Given the description of an element on the screen output the (x, y) to click on. 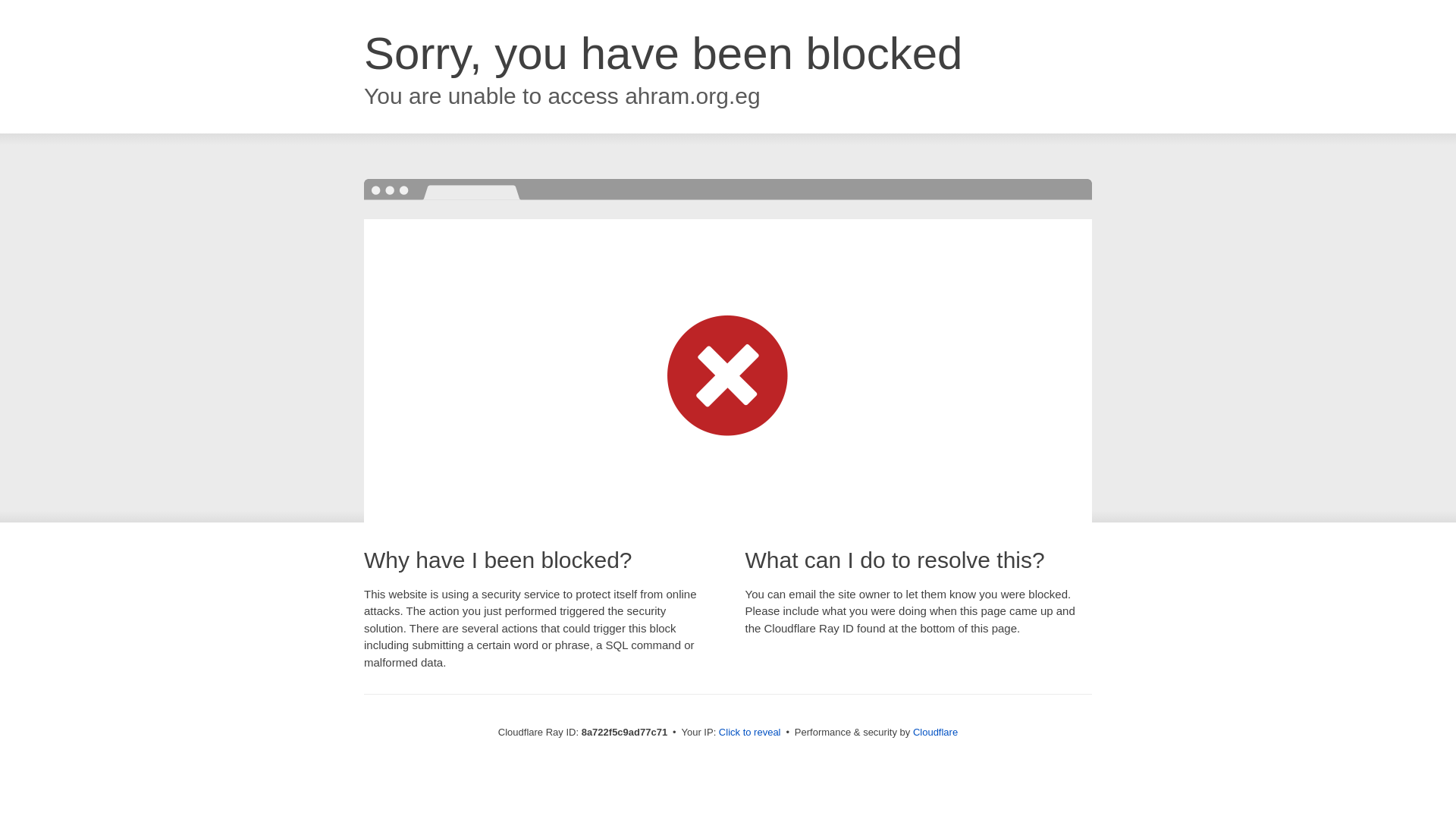
Cloudflare (935, 731)
Click to reveal (749, 732)
